Given the description of an element on the screen output the (x, y) to click on. 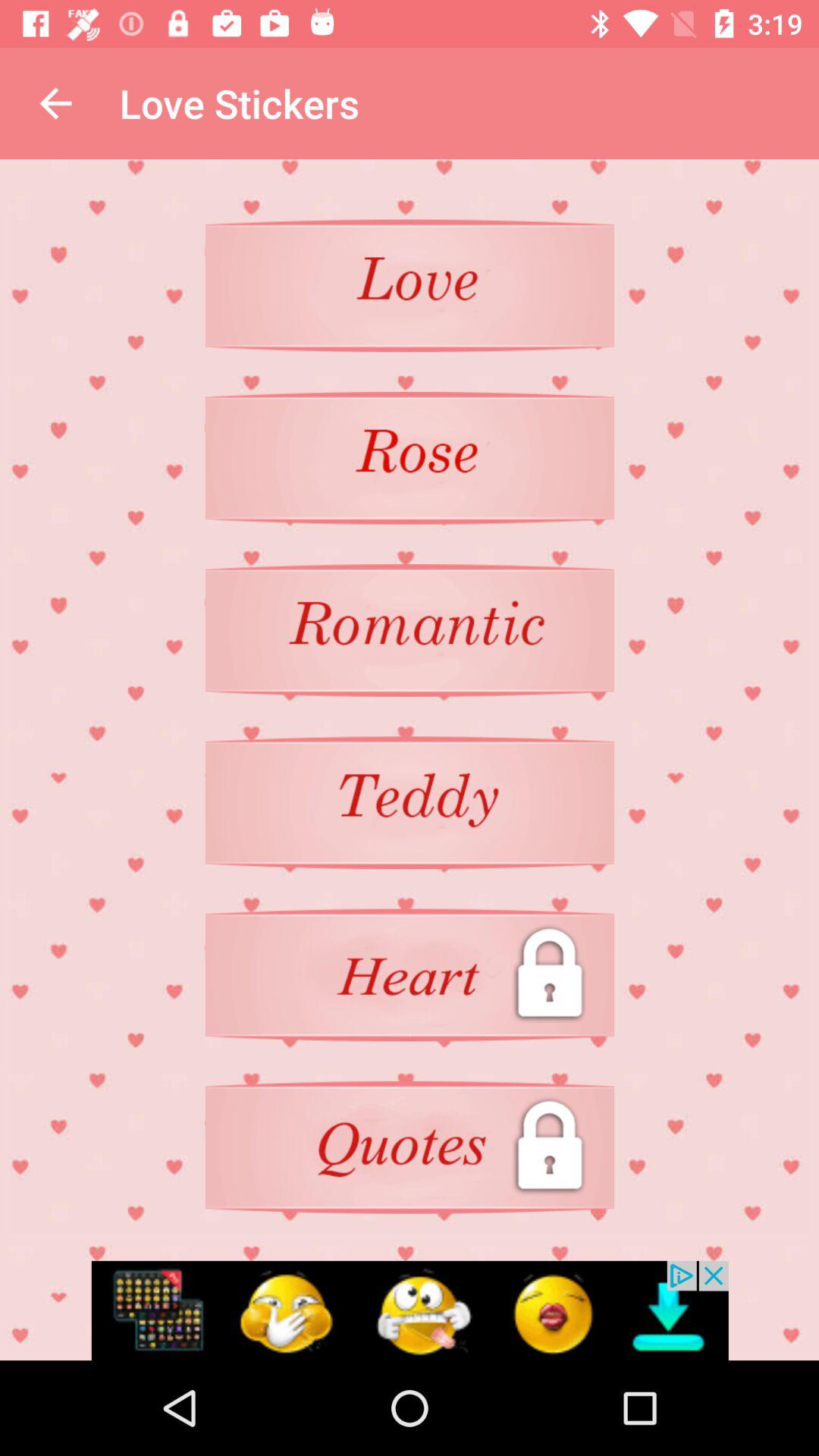
click love option (409, 285)
